Given the description of an element on the screen output the (x, y) to click on. 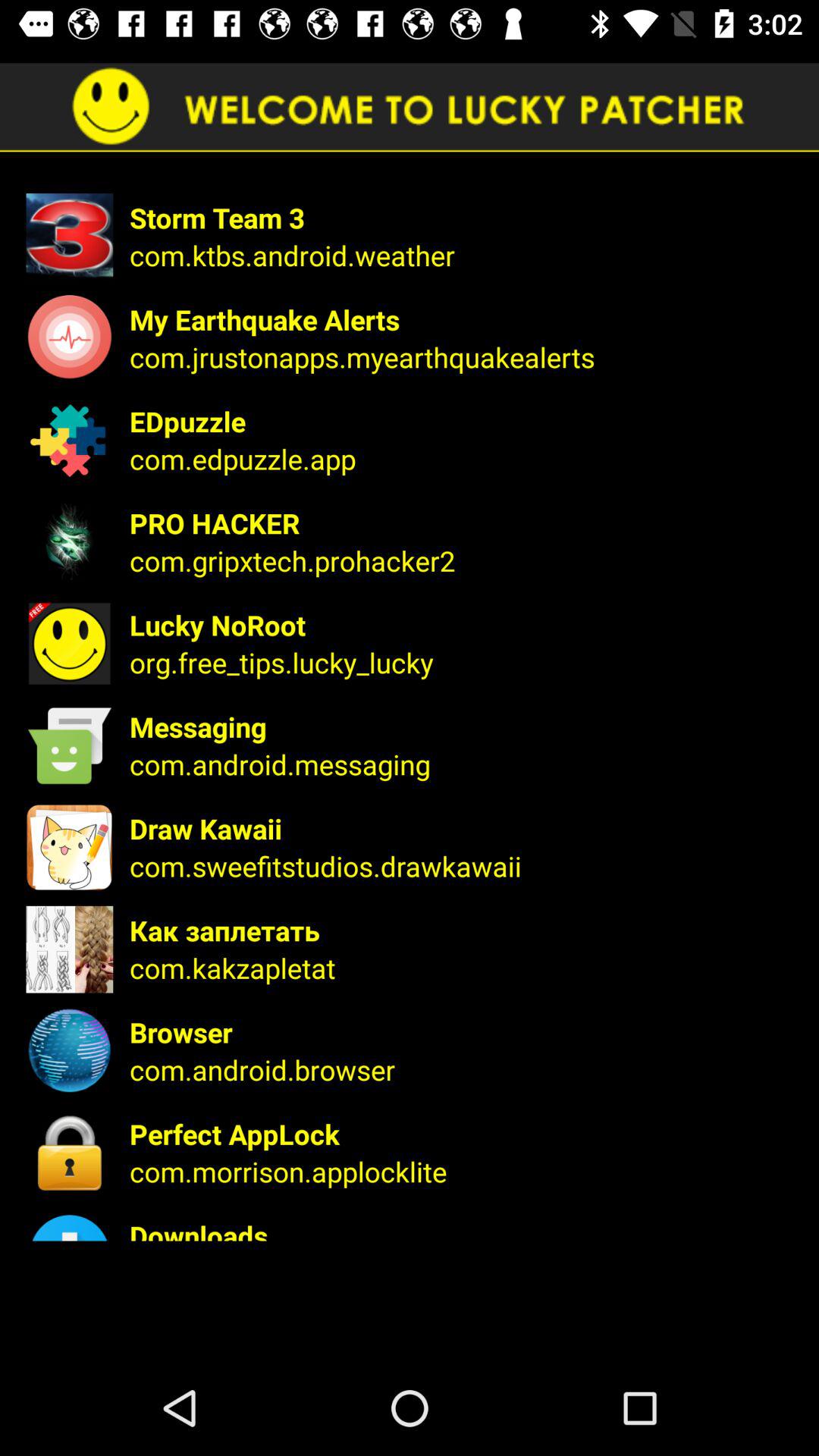
launch the app above the messaging item (464, 662)
